Given the description of an element on the screen output the (x, y) to click on. 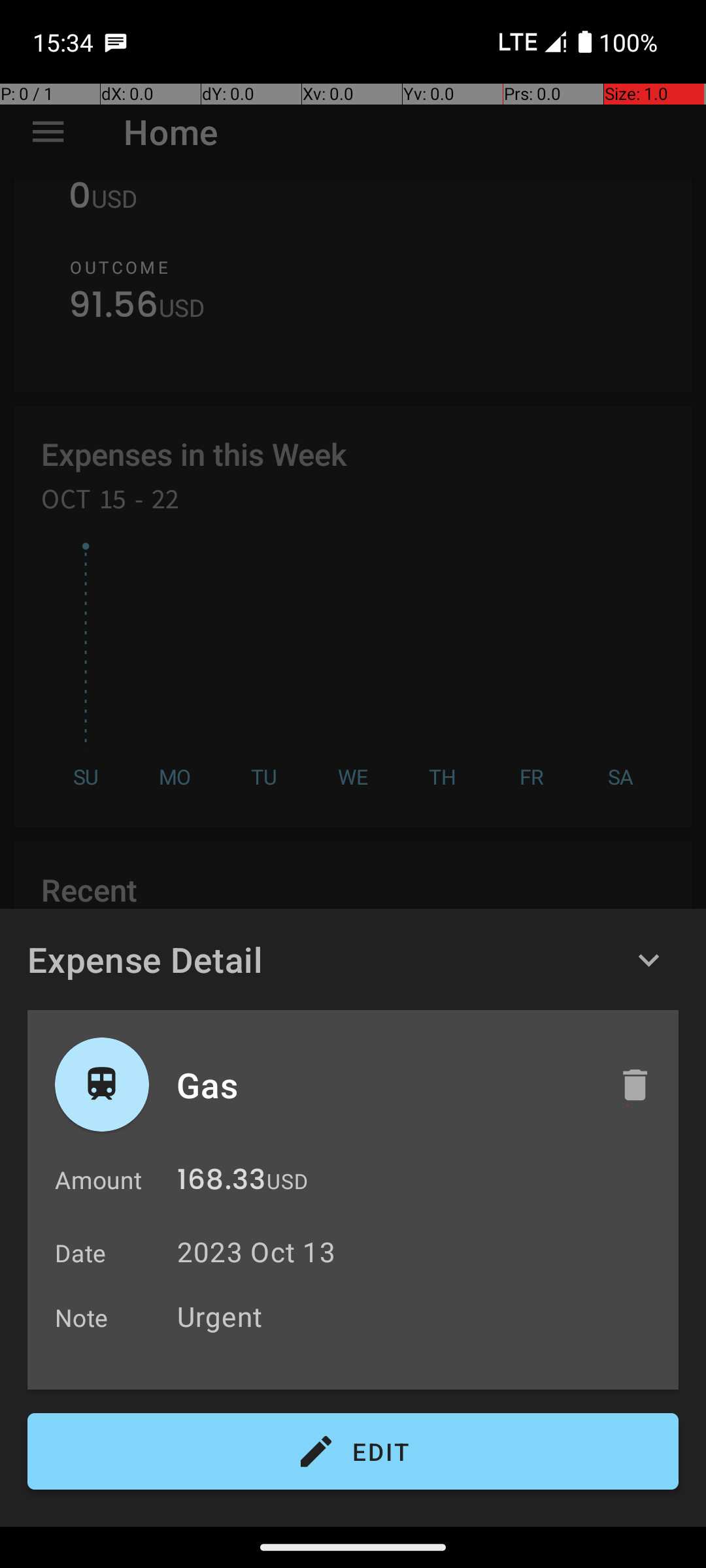
Gas Element type: android.widget.TextView (383, 1084)
168.33 Element type: android.widget.TextView (221, 1182)
Urgent Element type: android.widget.TextView (420, 1315)
